Given the description of an element on the screen output the (x, y) to click on. 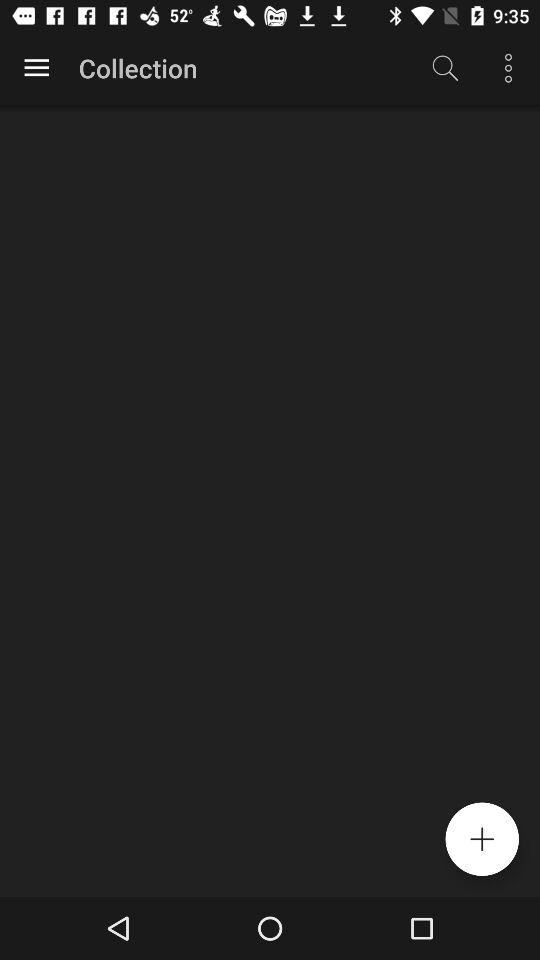
press the item next to collection item (444, 67)
